Given the description of an element on the screen output the (x, y) to click on. 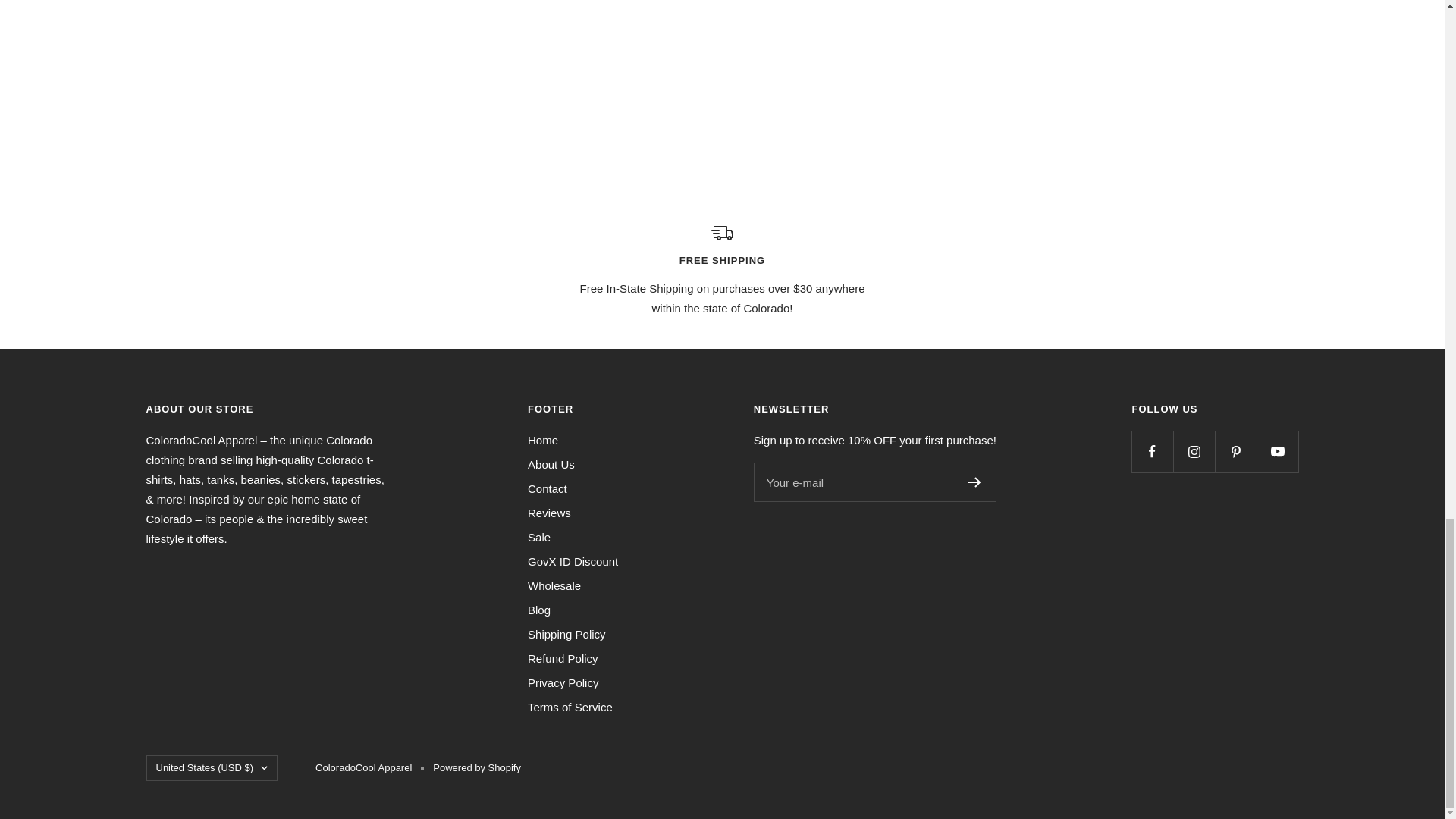
Register (974, 481)
